Given the description of an element on the screen output the (x, y) to click on. 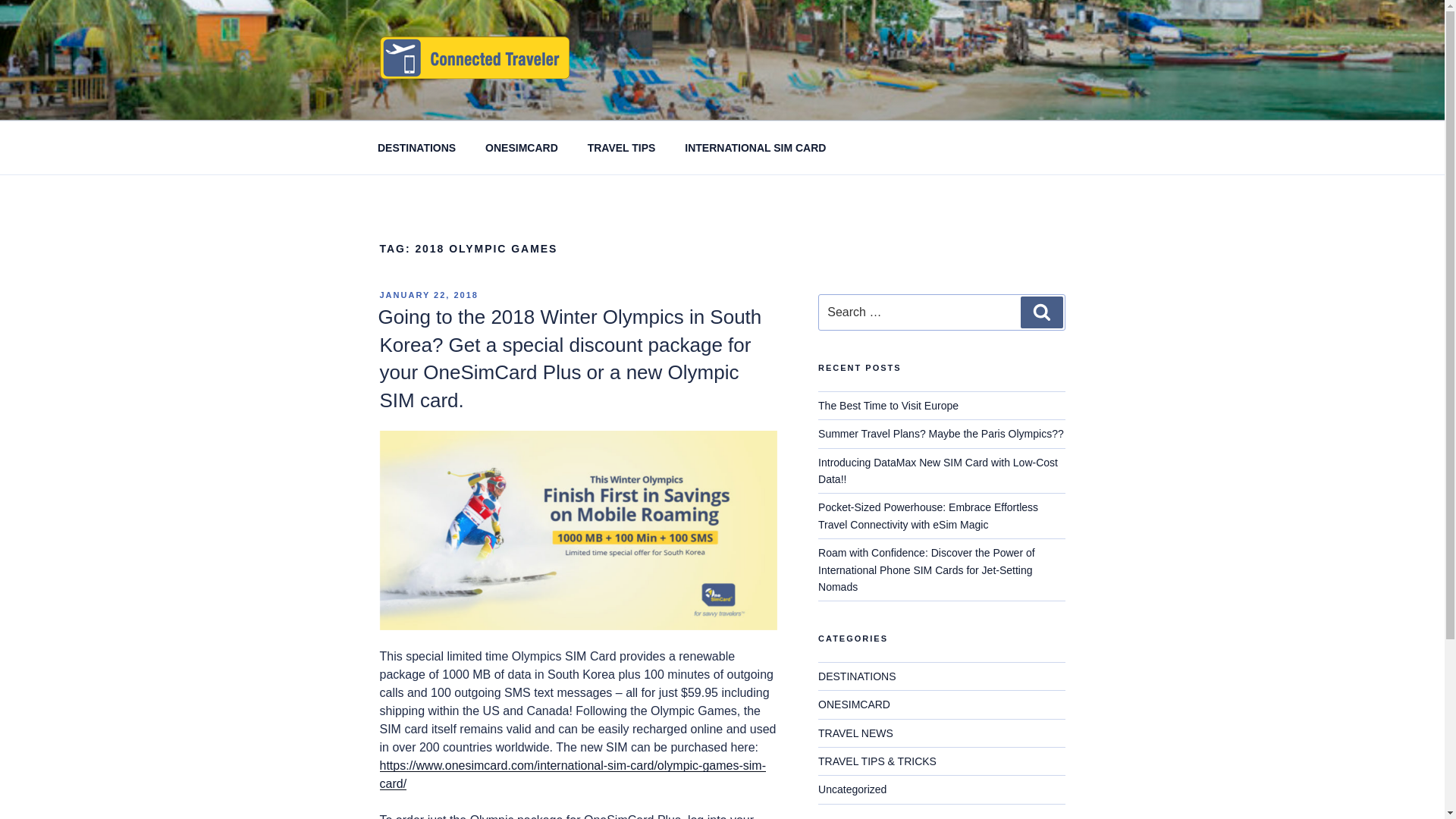
Introducing DataMax New SIM Card with Low-Cost Data!! (938, 470)
JANUARY 22, 2018 (427, 294)
Uncategorized (852, 788)
Search (1041, 312)
Summer Travel Plans? Maybe the Paris Olympics?? (941, 433)
DESTINATIONS (416, 147)
ONESIMCARD (853, 704)
INTERNATIONAL SIM CARD (755, 147)
ONESIMCARD (521, 147)
The Best Time to Visit Europe (888, 405)
DESTINATIONS (856, 676)
TRAVEL NEWS (855, 733)
